Given the description of an element on the screen output the (x, y) to click on. 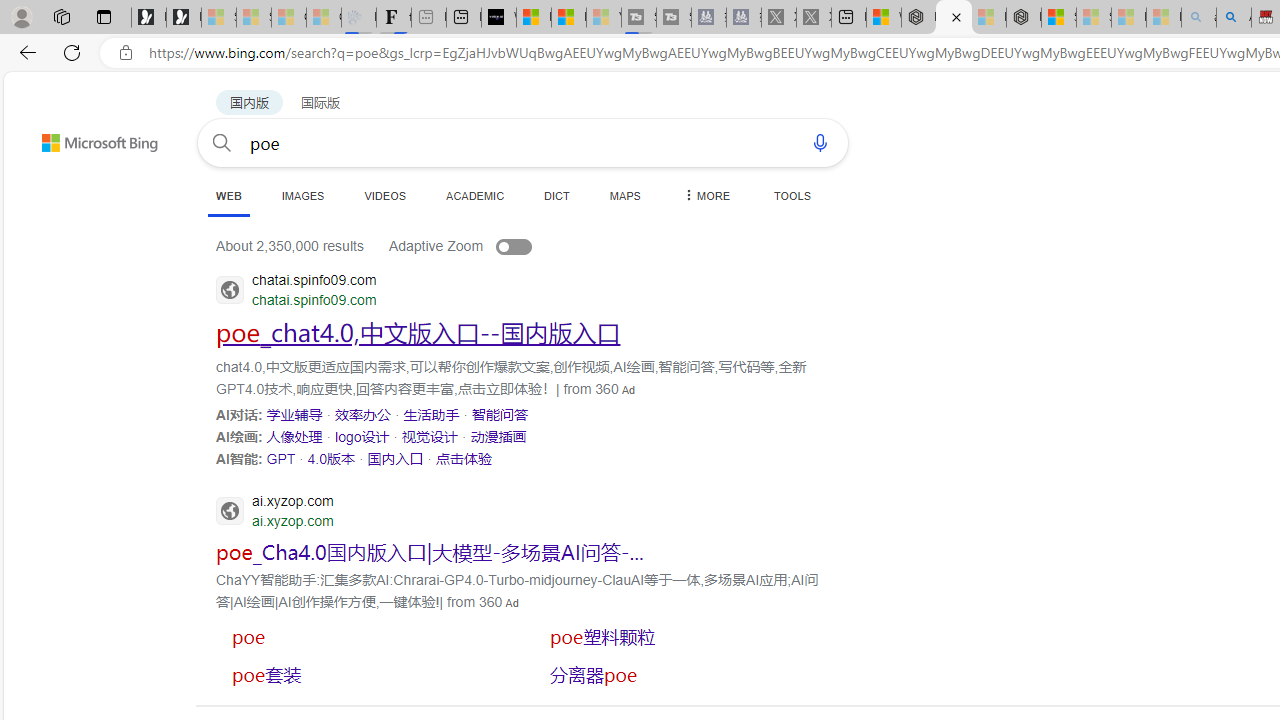
SERP,5571 (331, 458)
IMAGES (302, 195)
New tab (849, 17)
ACADEMIC (475, 195)
SERP,5569 (498, 436)
Back (24, 52)
